Given the description of an element on the screen output the (x, y) to click on. 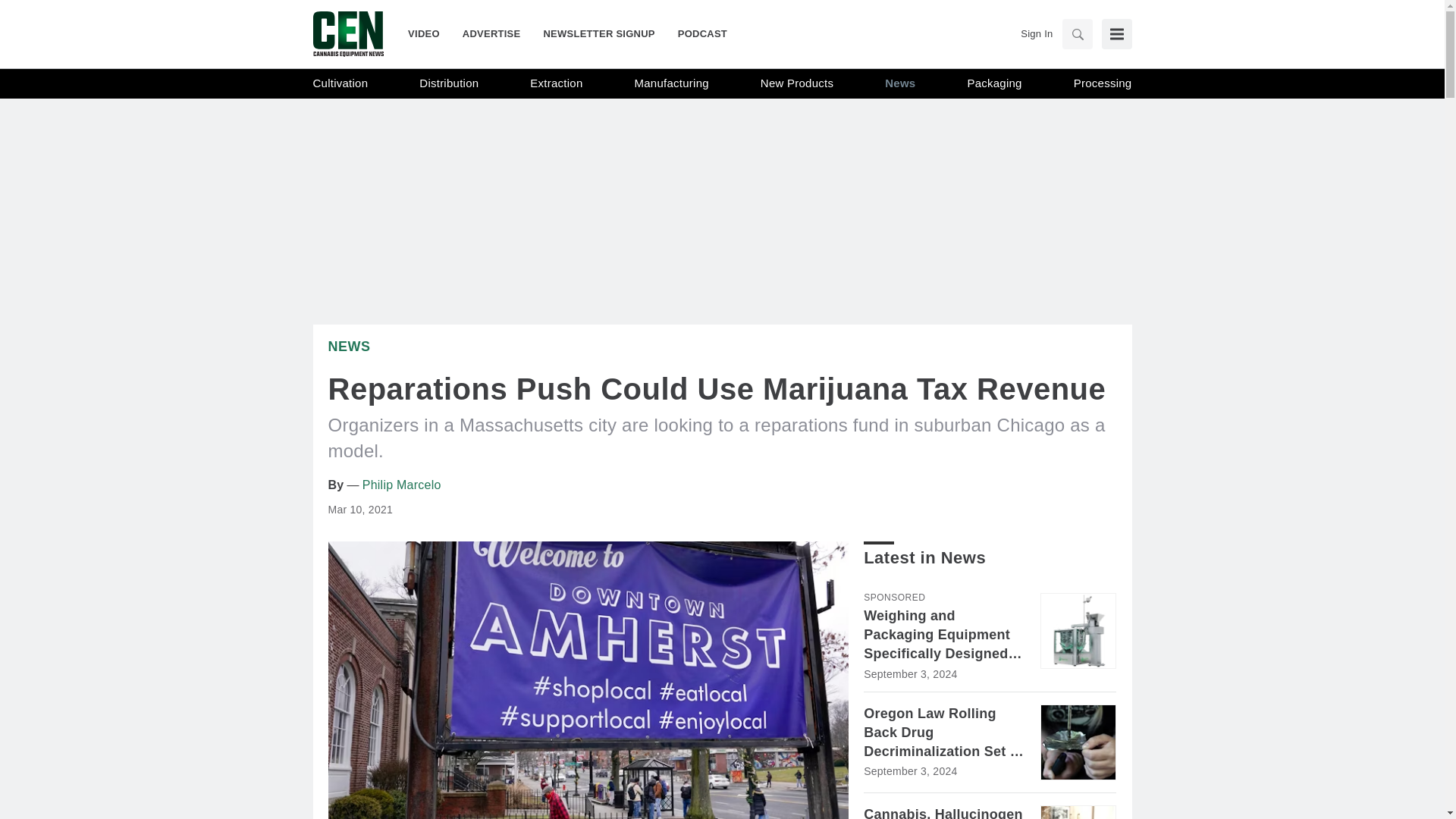
News (348, 346)
Distribution (449, 83)
New Products (796, 83)
VIDEO (429, 33)
Cultivation (340, 83)
Sponsored (893, 596)
Extraction (555, 83)
News (900, 83)
Manufacturing (671, 83)
Processing (1103, 83)
